Given the description of an element on the screen output the (x, y) to click on. 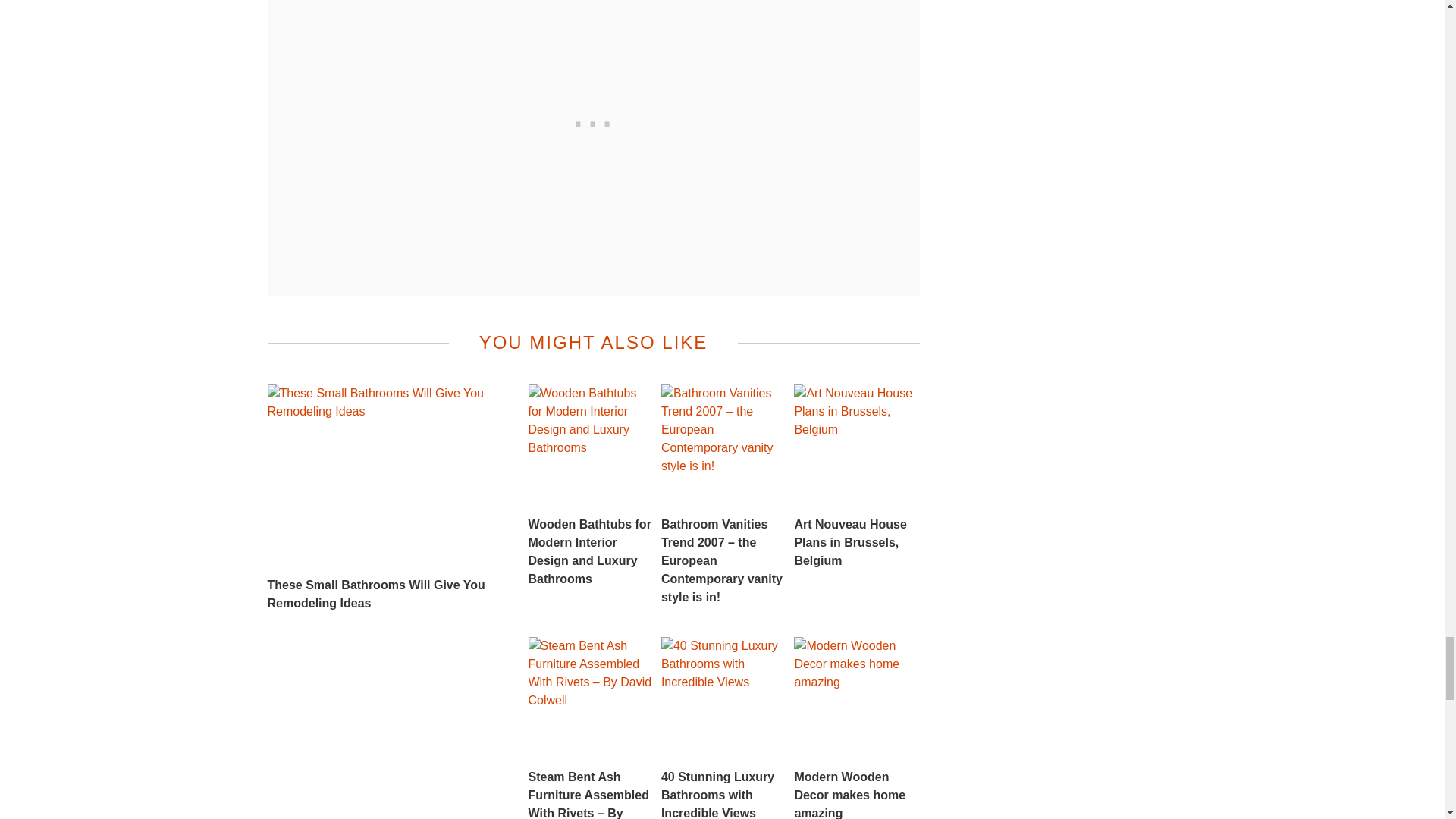
Art Nouveau House Plans in Brussels, Belgium (855, 477)
These Small Bathrooms Will Give You Remodeling Ideas (385, 498)
Modern Wooden Decor makes home amazing (855, 728)
Modern Wooden Decor makes home amazing (855, 728)
These Small Bathrooms Will Give You Remodeling Ideas (385, 498)
Art Nouveau House Plans in Brussels, Belgium (855, 477)
40 Stunning Luxury Bathrooms with Incredible Views (723, 728)
40 Stunning Luxury Bathrooms with Incredible Views (723, 728)
